Given the description of an element on the screen output the (x, y) to click on. 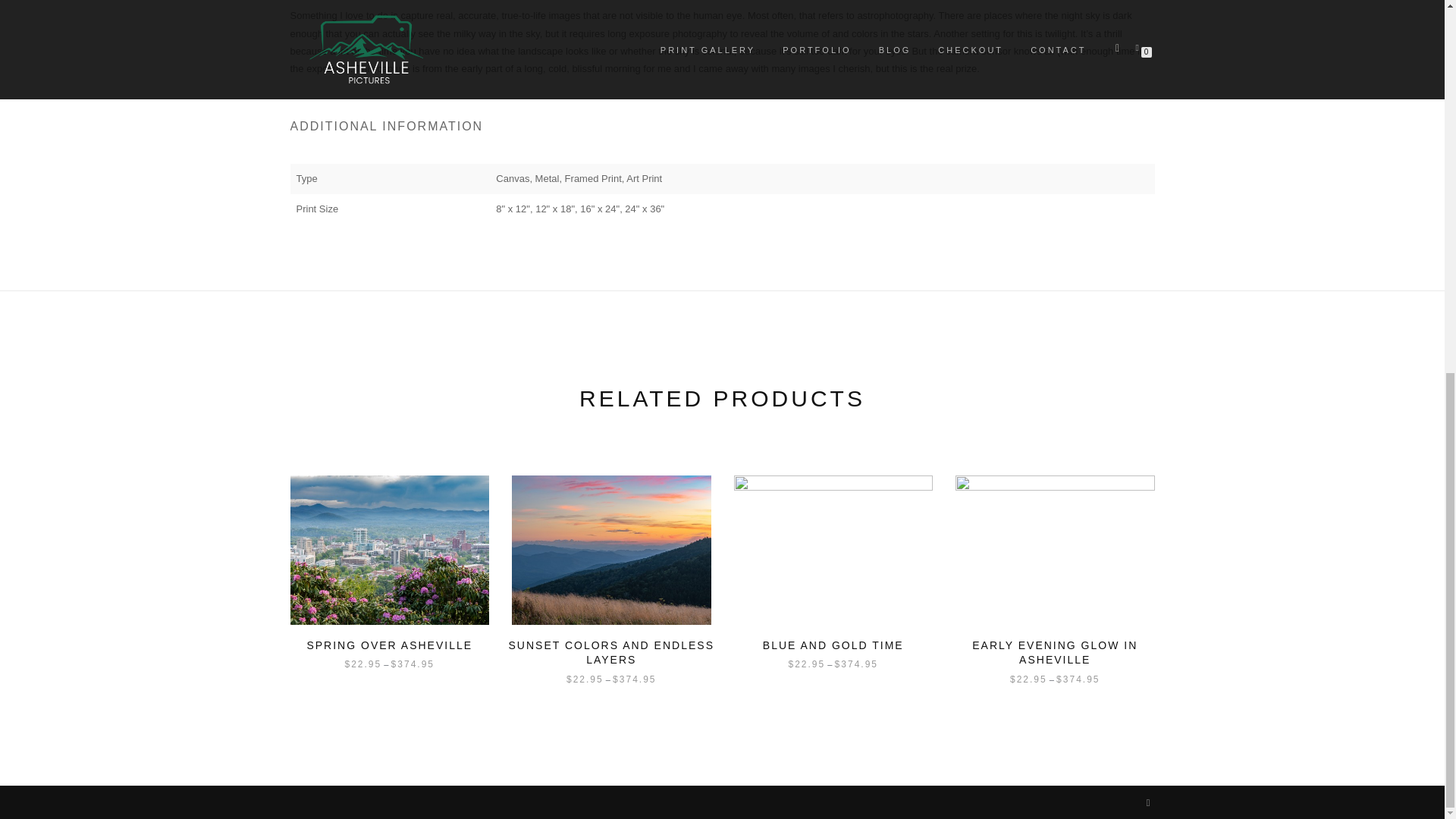
Blue and Gold - sRGB Preview (832, 549)
Downtown Asheville Early Evening Glow - sRGB Preview (1054, 549)
Spring Above Asheville - Preview sRGB (389, 549)
Colorful sunset at Roan - preview sRGB (611, 549)
